Given the description of an element on the screen output the (x, y) to click on. 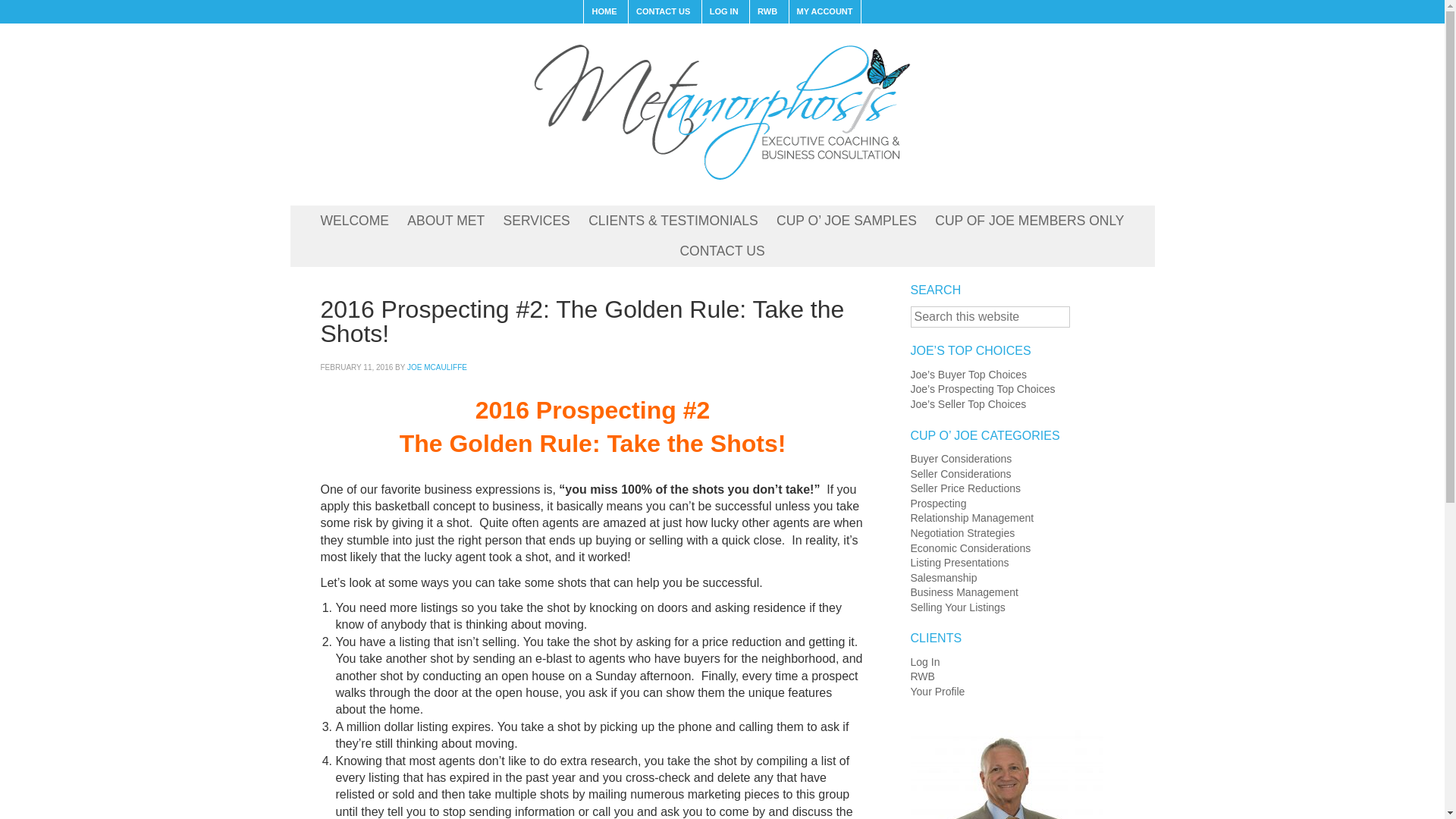
MY ACCOUNT (824, 11)
JOE MCAULIFFE (437, 367)
CONTACT US (721, 250)
ABOUT MET (445, 220)
HOME (603, 11)
RWB (766, 11)
CONTACT US (662, 11)
WELCOME (354, 220)
